Given the description of an element on the screen output the (x, y) to click on. 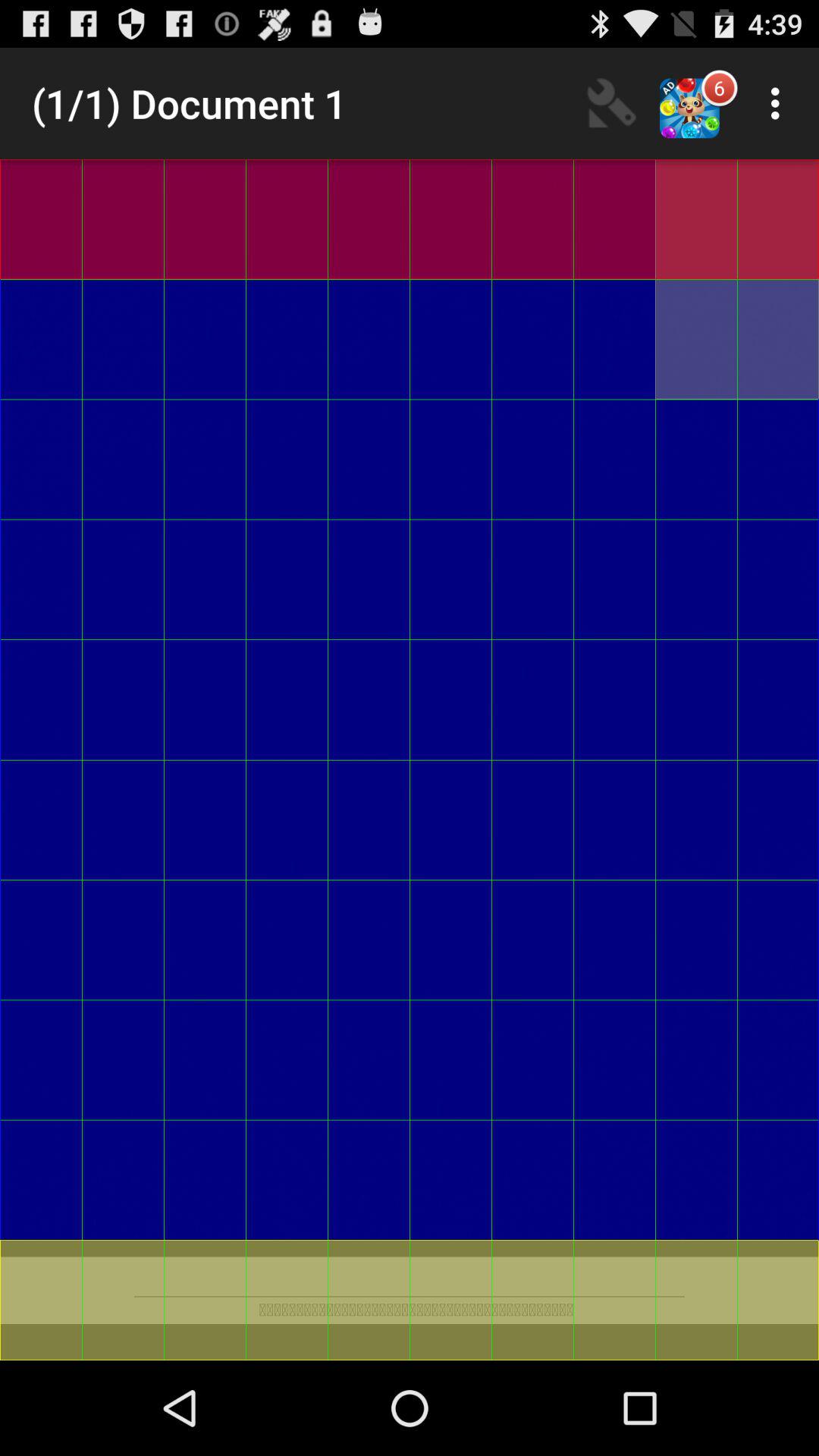
turn on item to the right of 1 1 document item (611, 103)
